Given the description of an element on the screen output the (x, y) to click on. 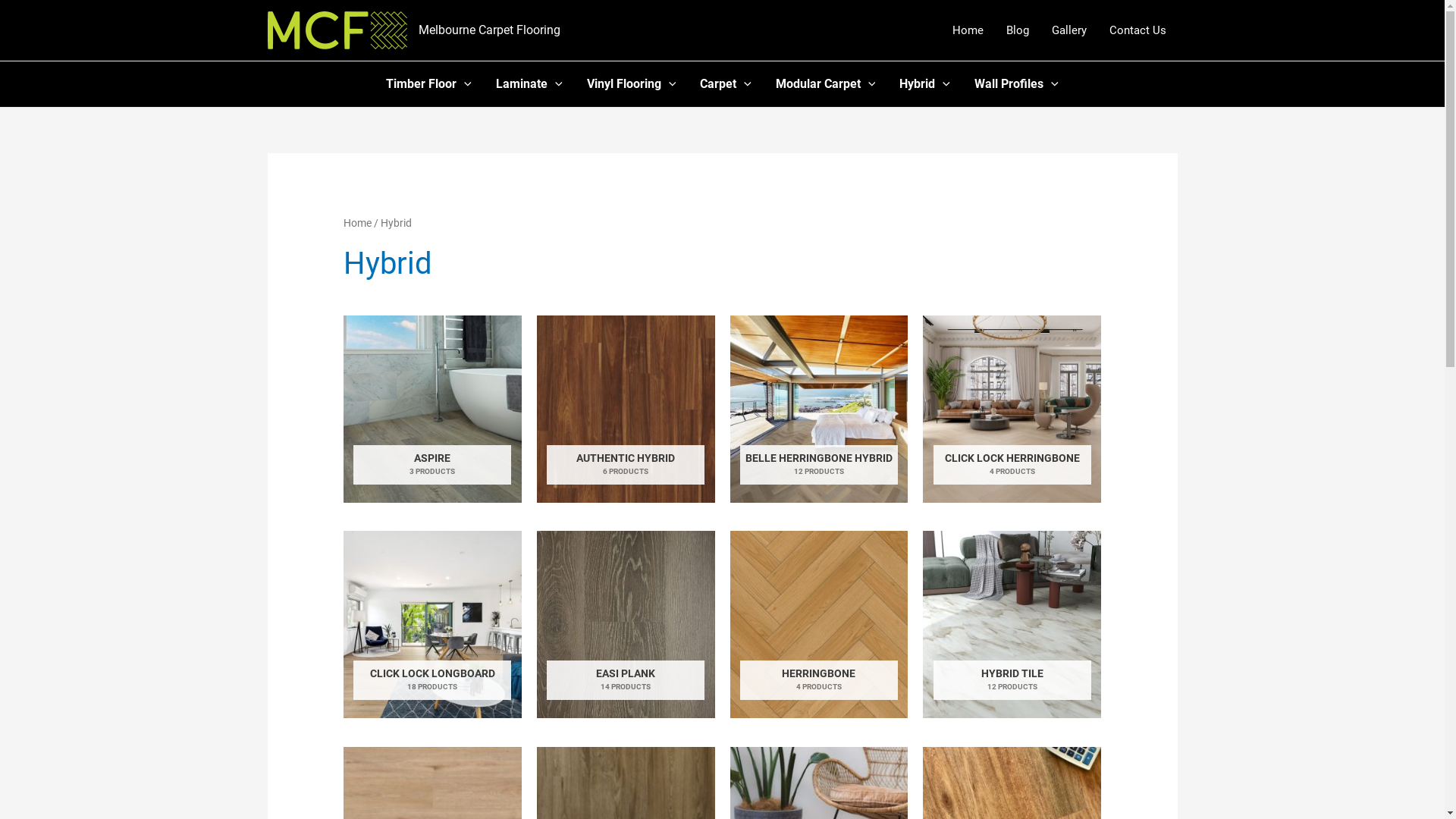
Hybrid Element type: text (924, 83)
AUTHENTIC HYBRID
6 PRODUCTS Element type: text (625, 408)
BELLE HERRINGBONE HYBRID
12 PRODUCTS Element type: text (818, 408)
HERRINGBONE
4 PRODUCTS Element type: text (818, 624)
Home Element type: text (357, 222)
Contact Us Element type: text (1137, 29)
HYBRID TILE
12 PRODUCTS Element type: text (1011, 624)
ASPIRE
3 PRODUCTS Element type: text (432, 408)
Modular Carpet Element type: text (825, 83)
Timber Floor Element type: text (428, 83)
Gallery Element type: text (1069, 29)
CLICK LOCK LONGBOARD
18 PRODUCTS Element type: text (432, 624)
Carpet Element type: text (725, 83)
Blog Element type: text (1017, 29)
Laminate Element type: text (528, 83)
EASI PLANK
14 PRODUCTS Element type: text (625, 624)
Home Element type: text (967, 29)
CLICK LOCK HERRINGBONE
4 PRODUCTS Element type: text (1011, 408)
Vinyl Flooring Element type: text (631, 83)
Wall Profiles Element type: text (1016, 83)
